Given the description of an element on the screen output the (x, y) to click on. 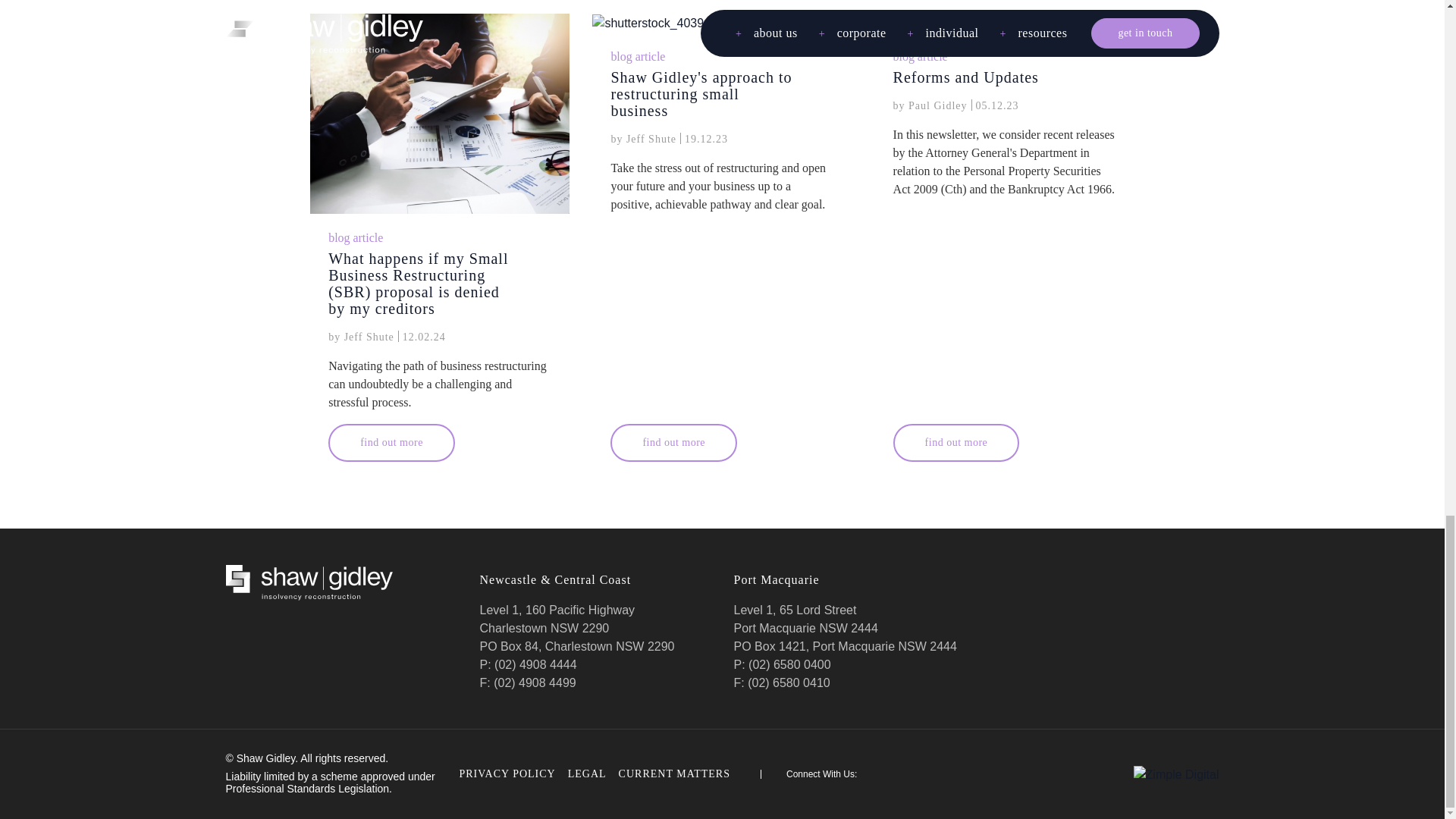
Zimple Digital (1177, 773)
CURRENT MATTERS (689, 773)
PRIVACY POLICY (508, 773)
LEGAL (587, 773)
view all (1114, 0)
